Given the description of an element on the screen output the (x, y) to click on. 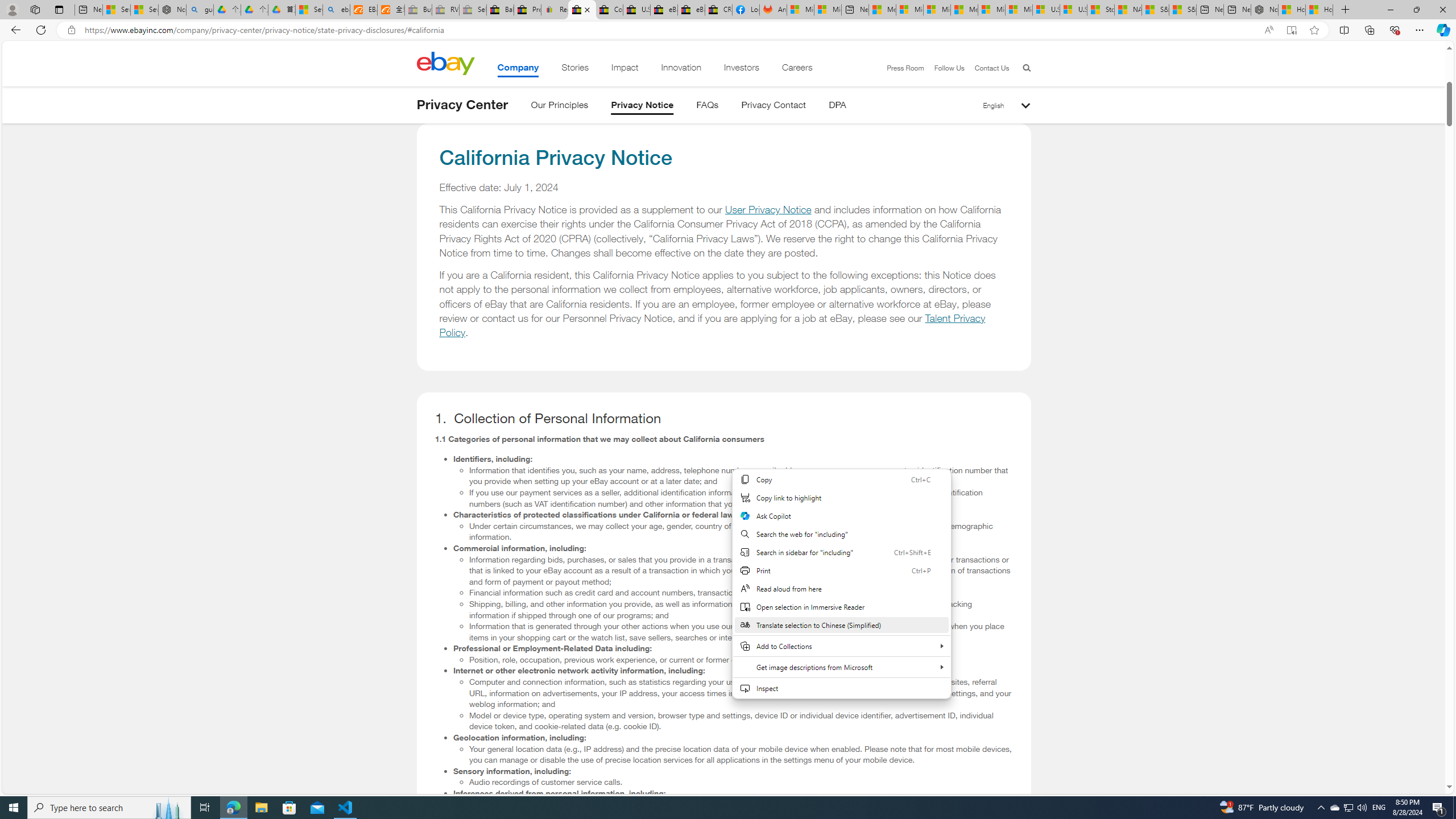
Privacy Contact (773, 107)
Our Principles (558, 107)
FAQs (707, 107)
Microsoft account | Home (936, 9)
